Given the description of an element on the screen output the (x, y) to click on. 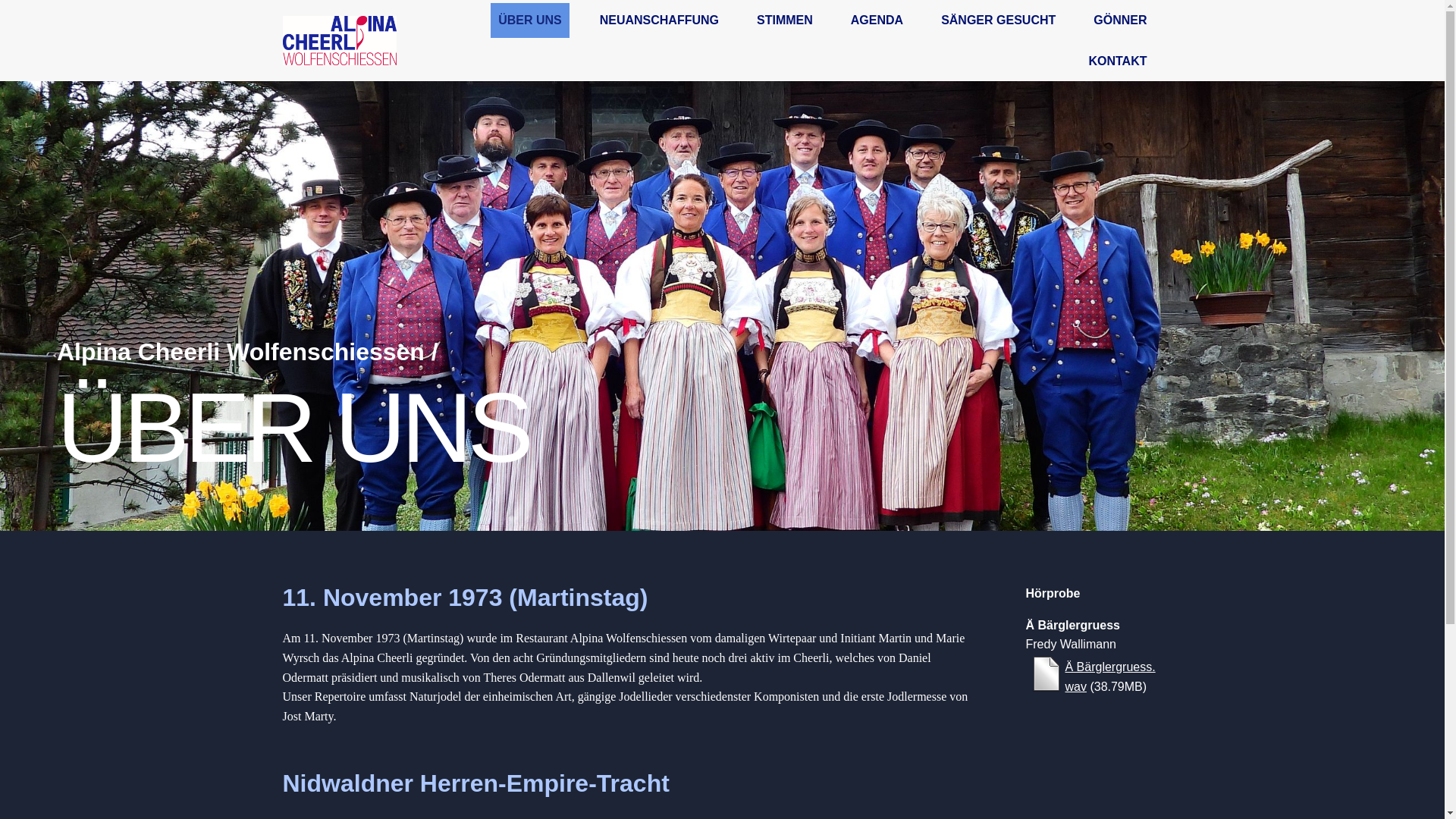
KONTAKT Element type: text (1117, 60)
NEUANSCHAFFUNG Element type: text (658, 19)
AGENDA Element type: text (876, 19)
STIMMEN Element type: text (784, 19)
